Given the description of an element on the screen output the (x, y) to click on. 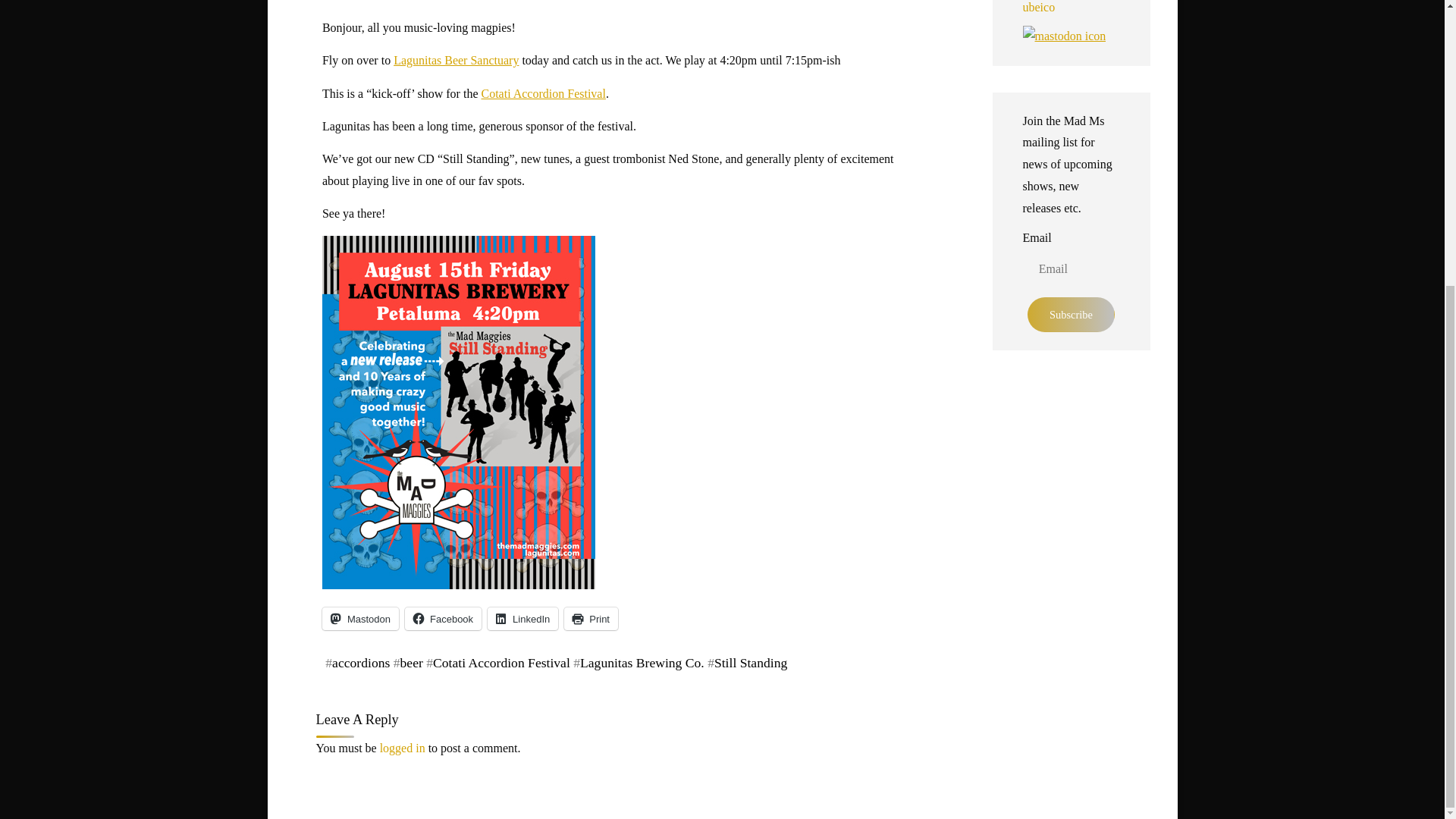
Click to share on LinkedIn (522, 618)
Click to share on Mastodon (359, 618)
Click to share on Facebook (442, 618)
Click to print (590, 618)
